Given the description of an element on the screen output the (x, y) to click on. 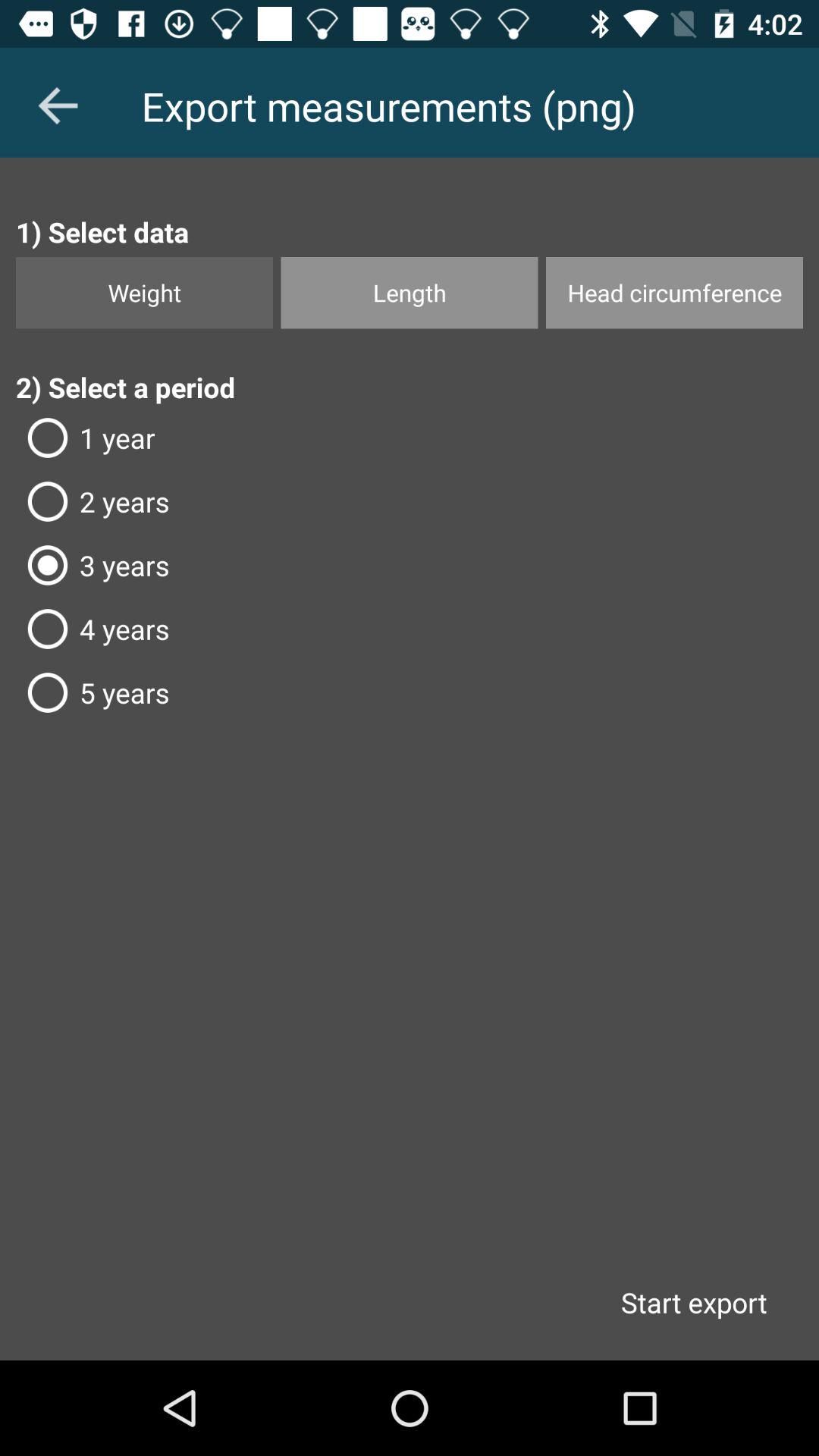
swipe until 1 year (409, 437)
